Given the description of an element on the screen output the (x, y) to click on. 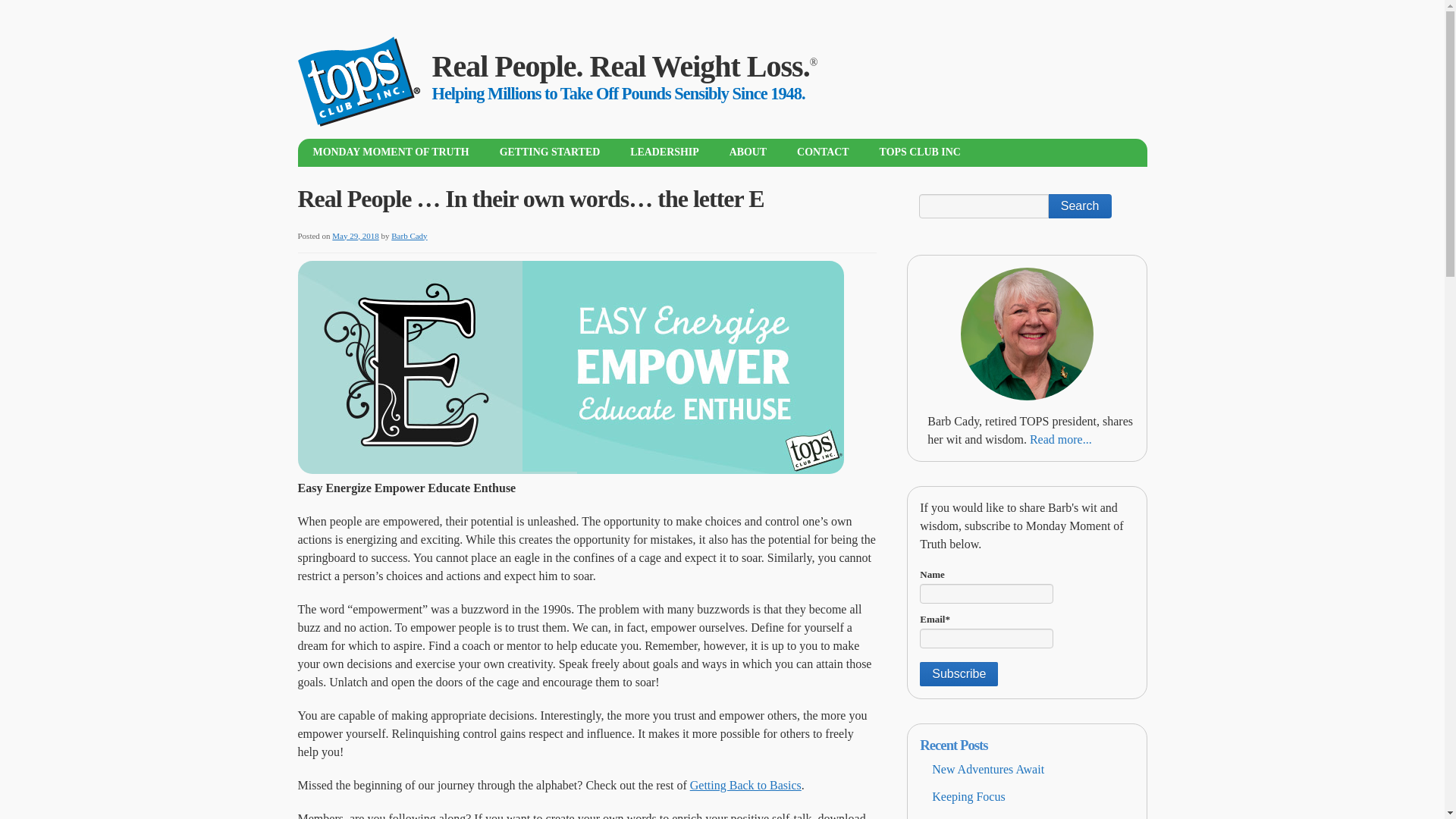
Subscribe (958, 673)
7:30 am (354, 234)
GETTING STARTED (549, 152)
ABOUT (747, 152)
May 29, 2018 (354, 234)
Barb Cady (408, 234)
Search (1080, 206)
Getting Back to Basics (746, 784)
MONDAY MOMENT OF TRUTH (390, 152)
CONTACT (822, 152)
TOPS CLUB INC (919, 152)
View all posts by Barb Cady (408, 234)
LEADERSHIP (663, 152)
